Given the description of an element on the screen output the (x, y) to click on. 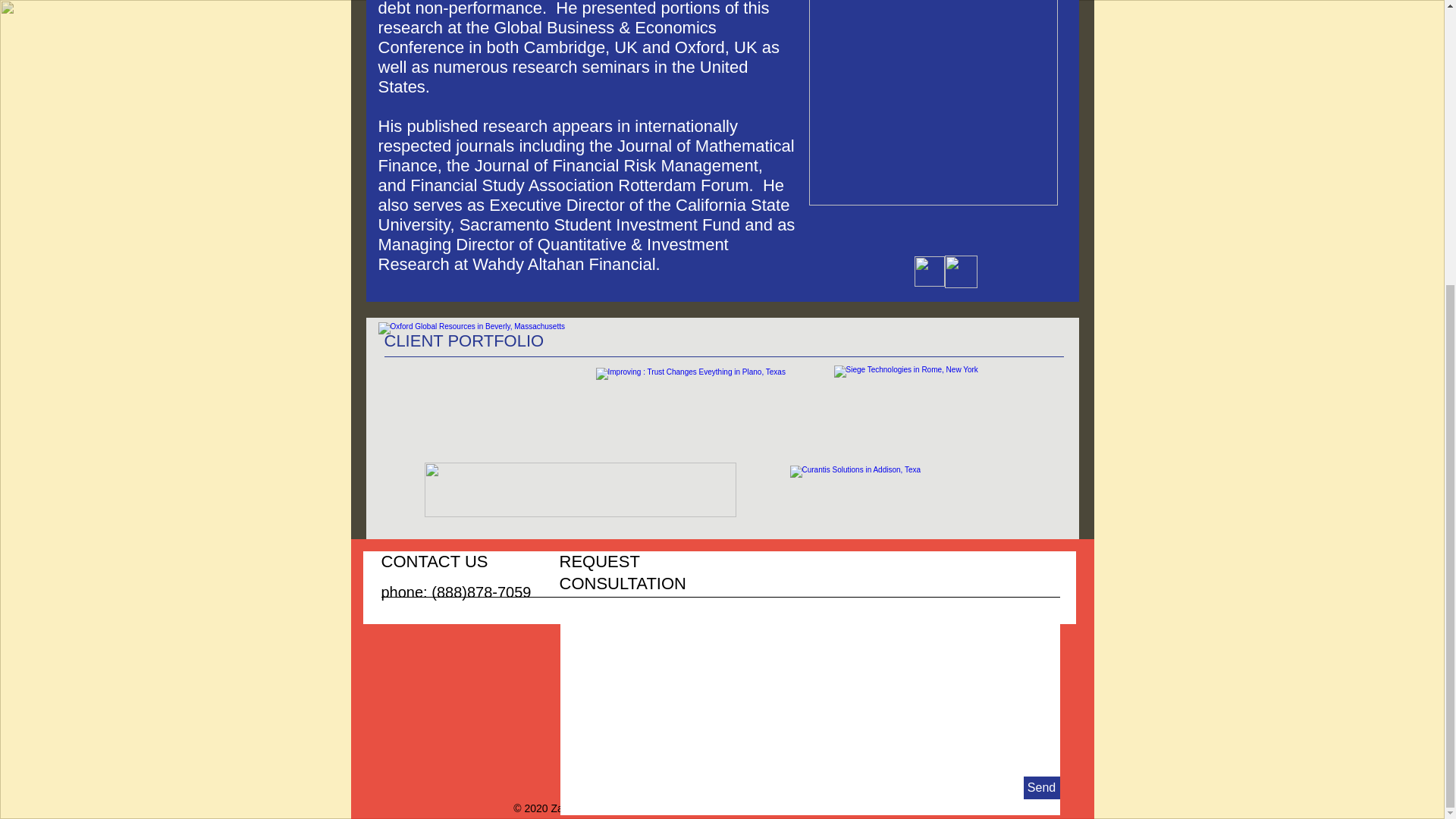
Send (1041, 787)
privacy policy (722, 808)
